Given the description of an element on the screen output the (x, y) to click on. 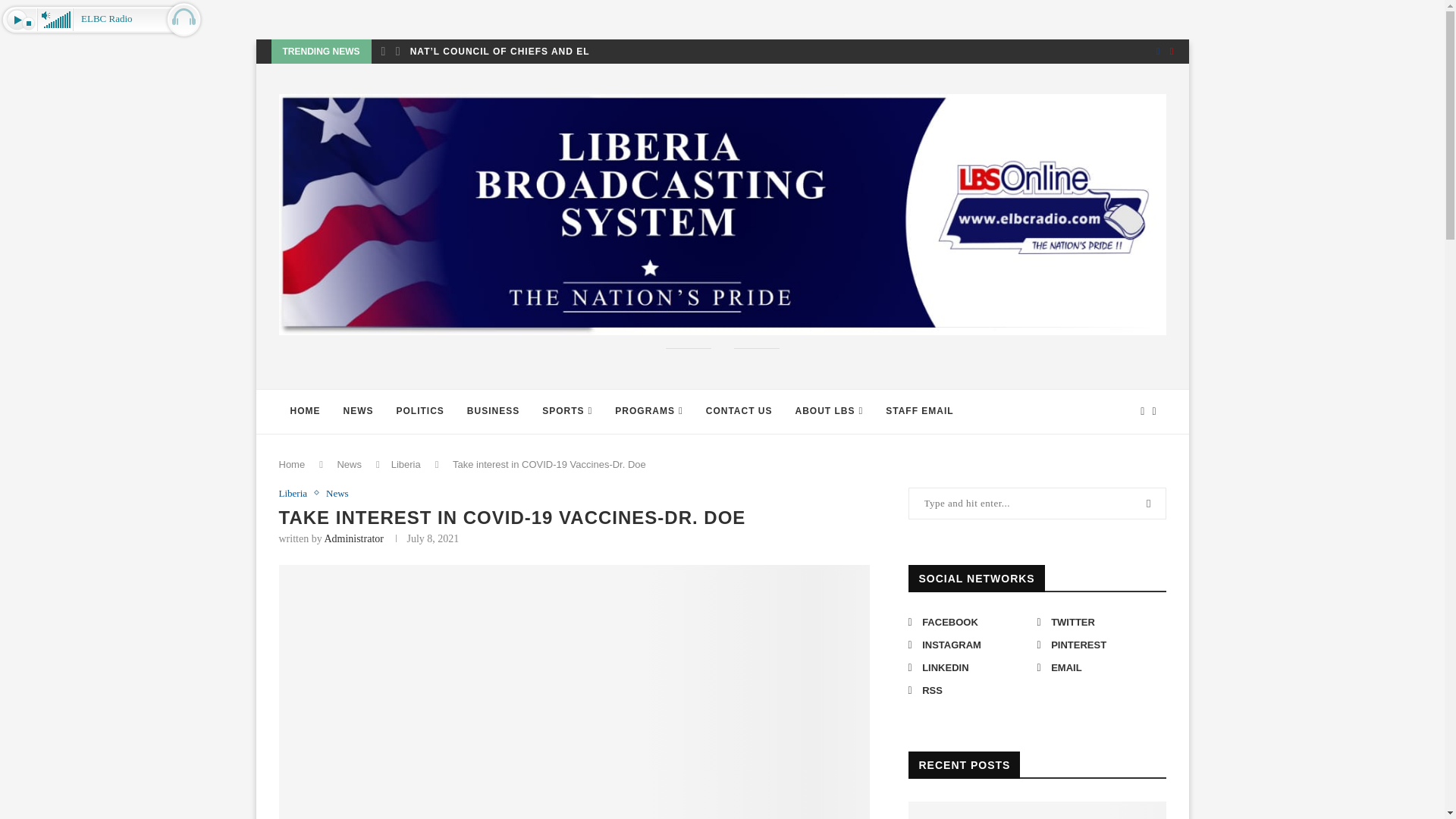
SPORTS (567, 411)
BUSINESS (493, 411)
NEWS (358, 411)
UNITED YOUTH CALLS FOR WASH, NUTRITION INCLUSIVENESS IN... (264, 51)
CONTACT US (739, 411)
HOME (305, 411)
POLITICS (420, 411)
ABOUT LBS (829, 411)
PROGRAMS (649, 411)
